Given the description of an element on the screen output the (x, y) to click on. 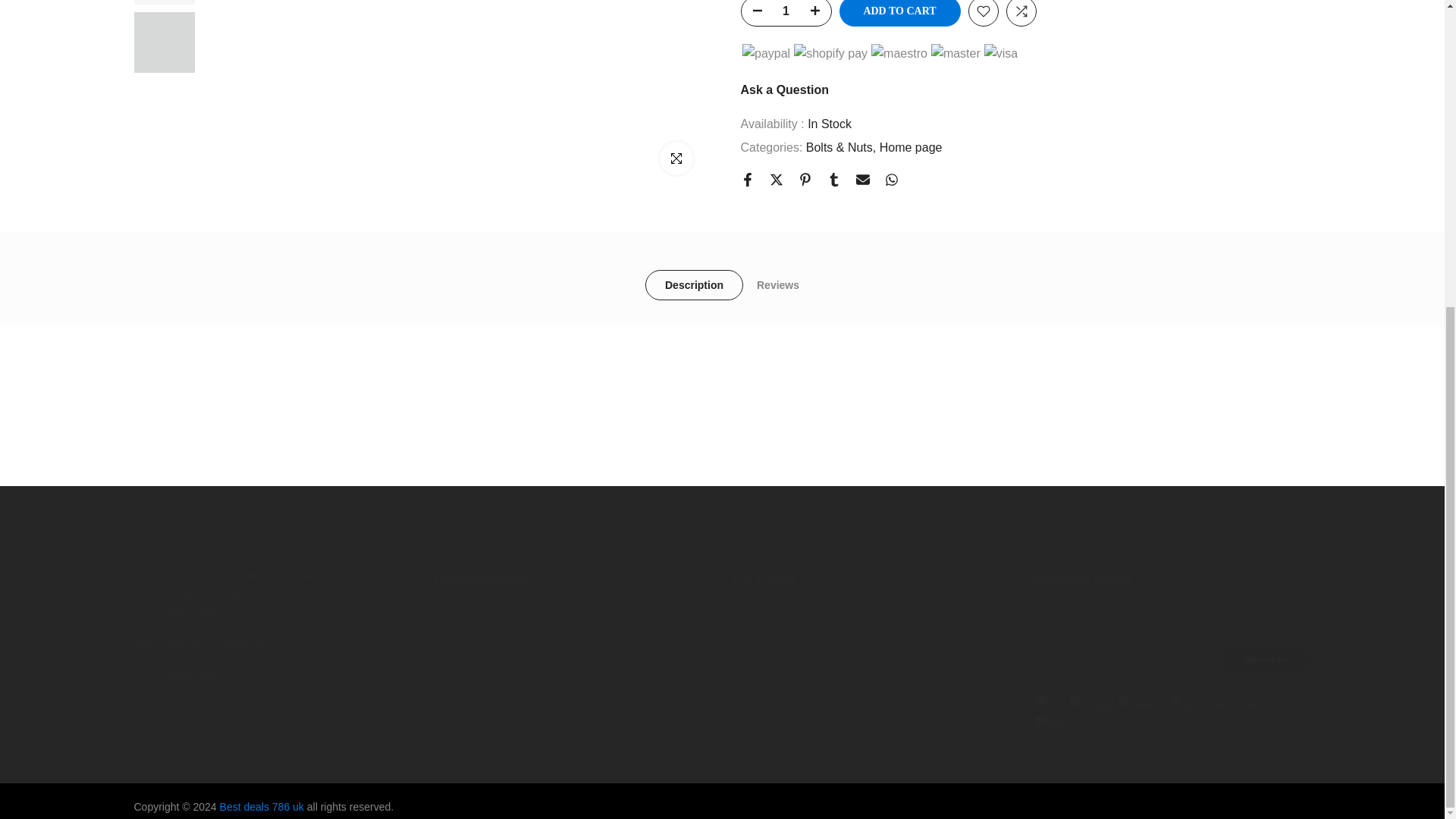
Share on Facebook (746, 115)
Share on Pinterest (803, 115)
Home page (910, 84)
Share on WhatsApp (890, 115)
Share on Twitter (775, 115)
Ask a Question (783, 25)
Share on Email (862, 115)
Share on Tumblr (833, 115)
